Given the description of an element on the screen output the (x, y) to click on. 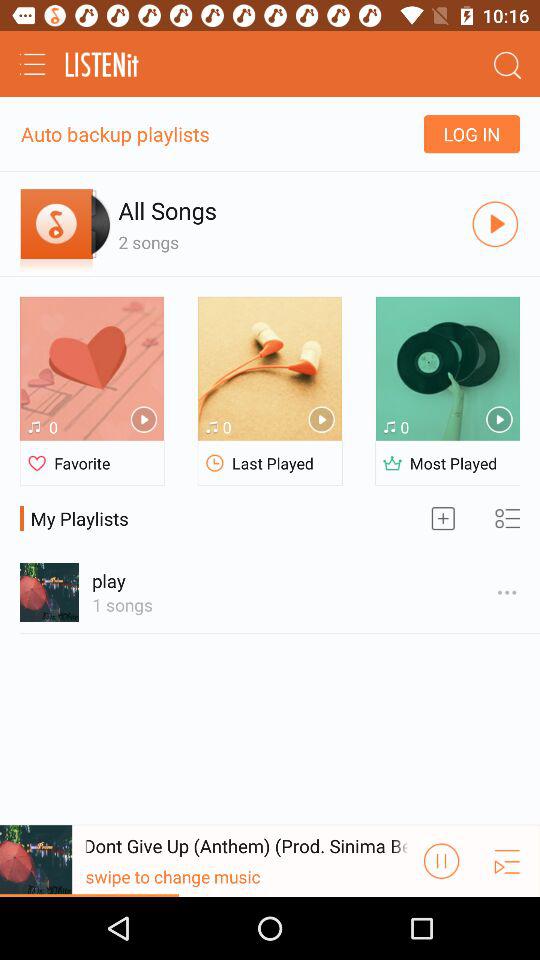
image left to text all songs at top (65, 224)
select the play icon which is above favorite (144, 419)
click the symbol left to most played (391, 463)
click on the button which is above most played (499, 419)
